Given the description of an element on the screen output the (x, y) to click on. 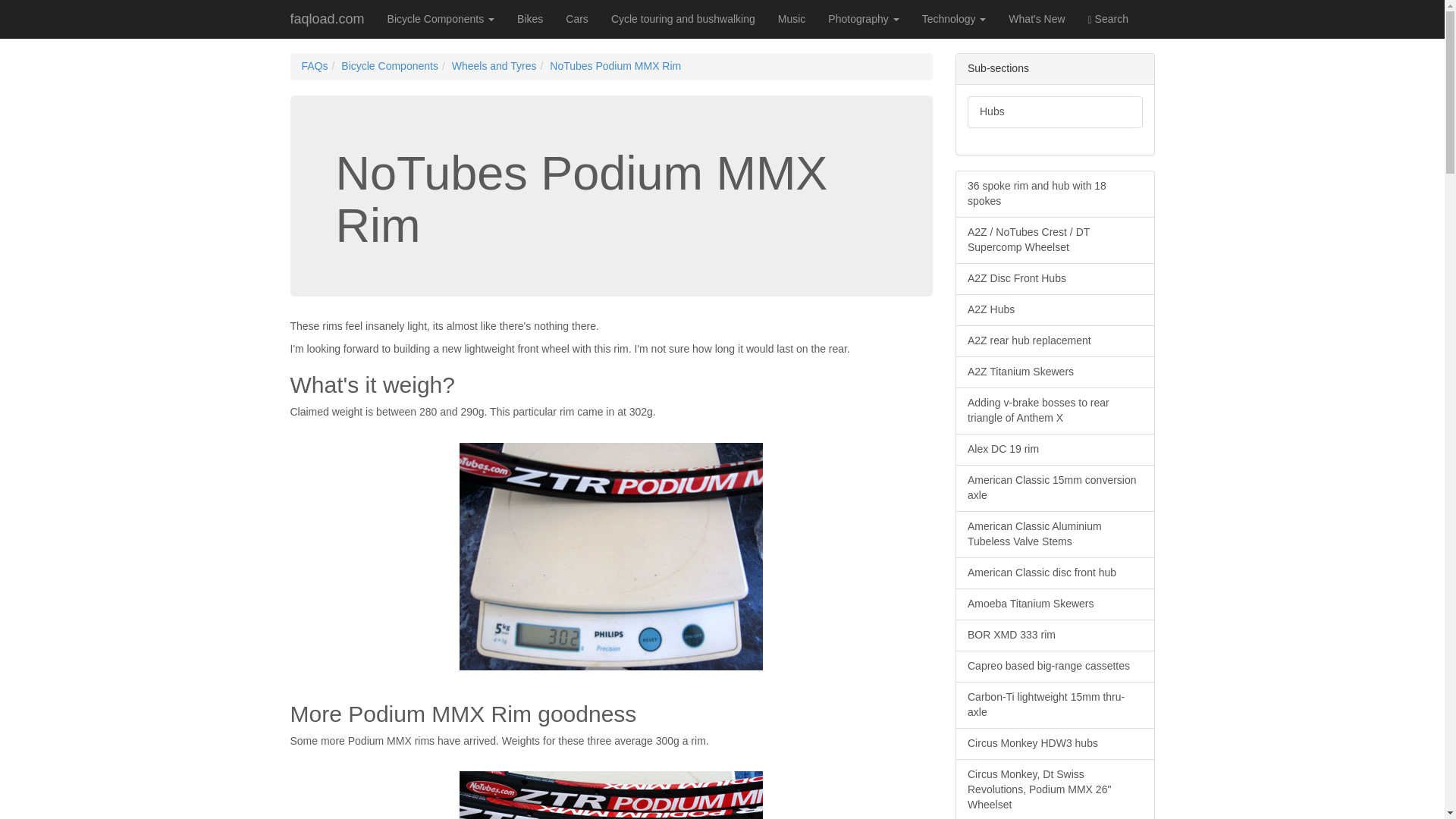
Technology (954, 18)
FAQs (315, 65)
Wheels and Tyres (494, 65)
Photography (863, 18)
Cycle touring and bushwalking (683, 18)
What's New (1036, 18)
Bikes (529, 18)
faqload.com (327, 18)
Music (791, 18)
NoTubes Podium MMX Rim (615, 65)
Search (1108, 18)
Bicycle Components (440, 18)
Cars (576, 18)
Bicycle Components (389, 65)
